Given the description of an element on the screen output the (x, y) to click on. 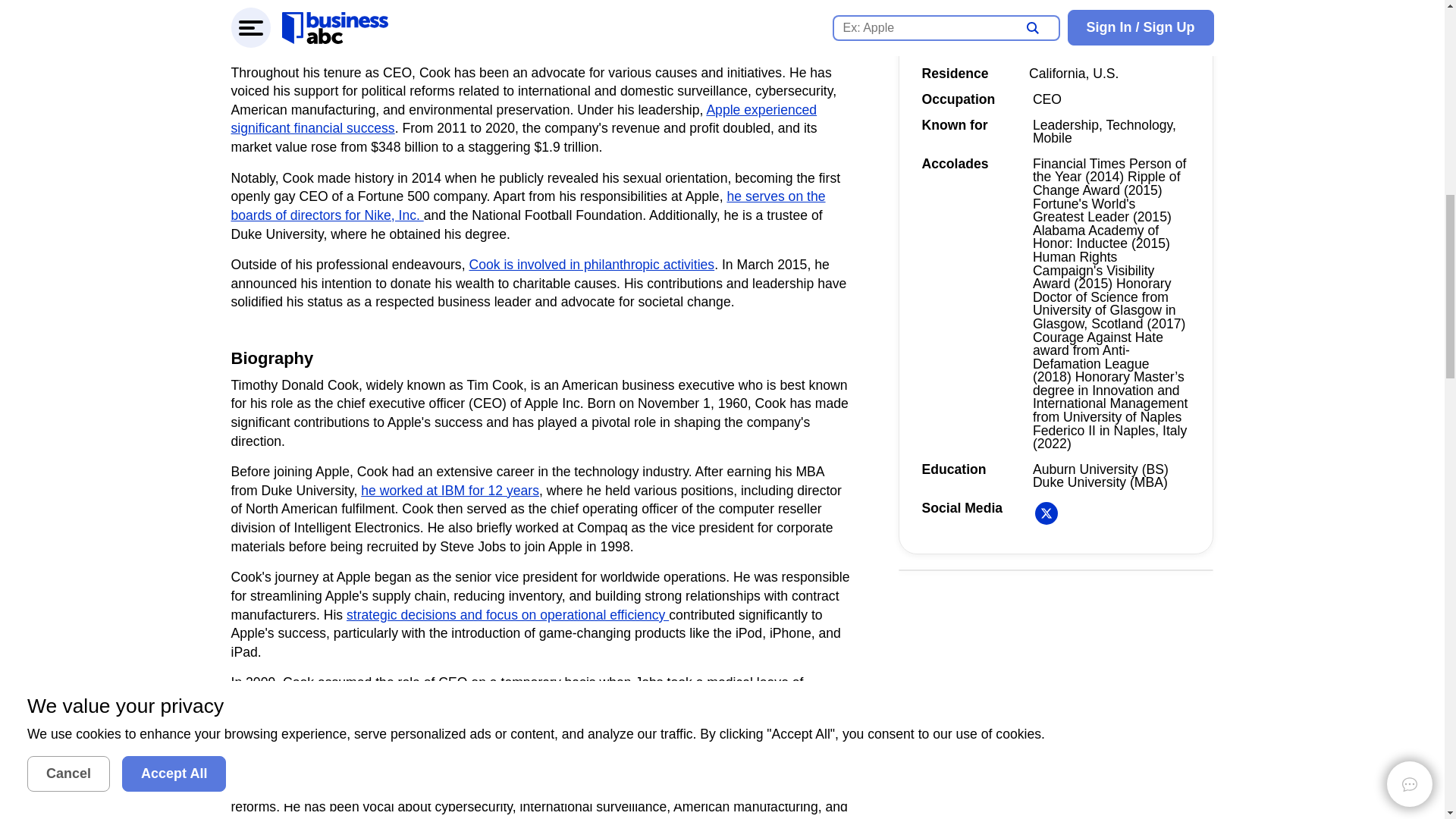
On August 24, 2011, he assumed the position of CEO, (460, 22)
strategic decisions and focus on operational efficiency (507, 614)
Cook is involved in philanthropic activities (591, 264)
he serves on the boards of directors for Nike, Inc. (527, 205)
Apple experienced significant financial success (523, 119)
Cook officially became the CEO of Apple (673, 701)
he worked at IBM for 12 years (449, 490)
